Given the description of an element on the screen output the (x, y) to click on. 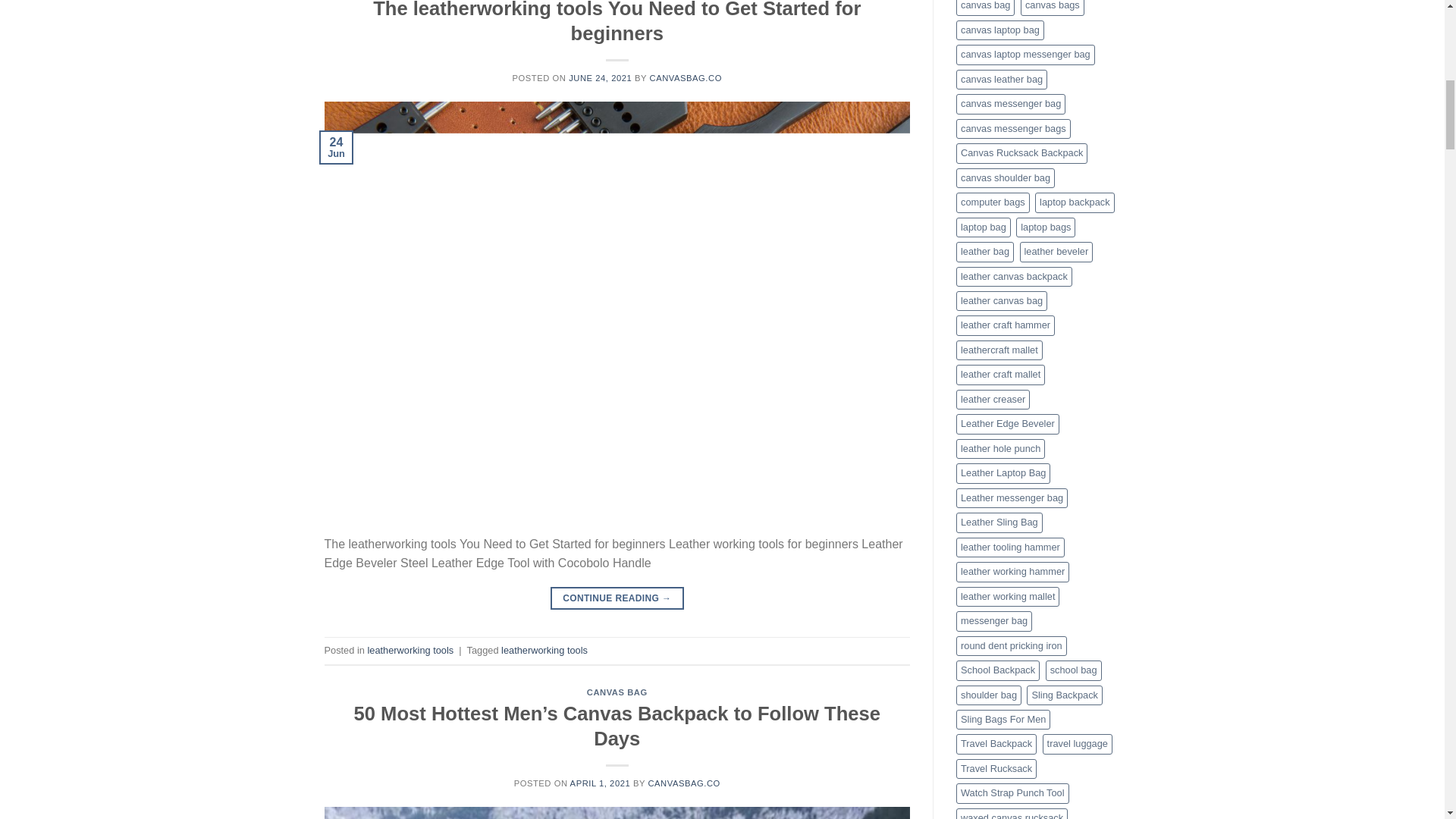
leatherworking tools (544, 650)
CANVASBAG.CO (685, 77)
JUNE 24, 2021 (600, 77)
leatherworking tools (409, 650)
